Given the description of an element on the screen output the (x, y) to click on. 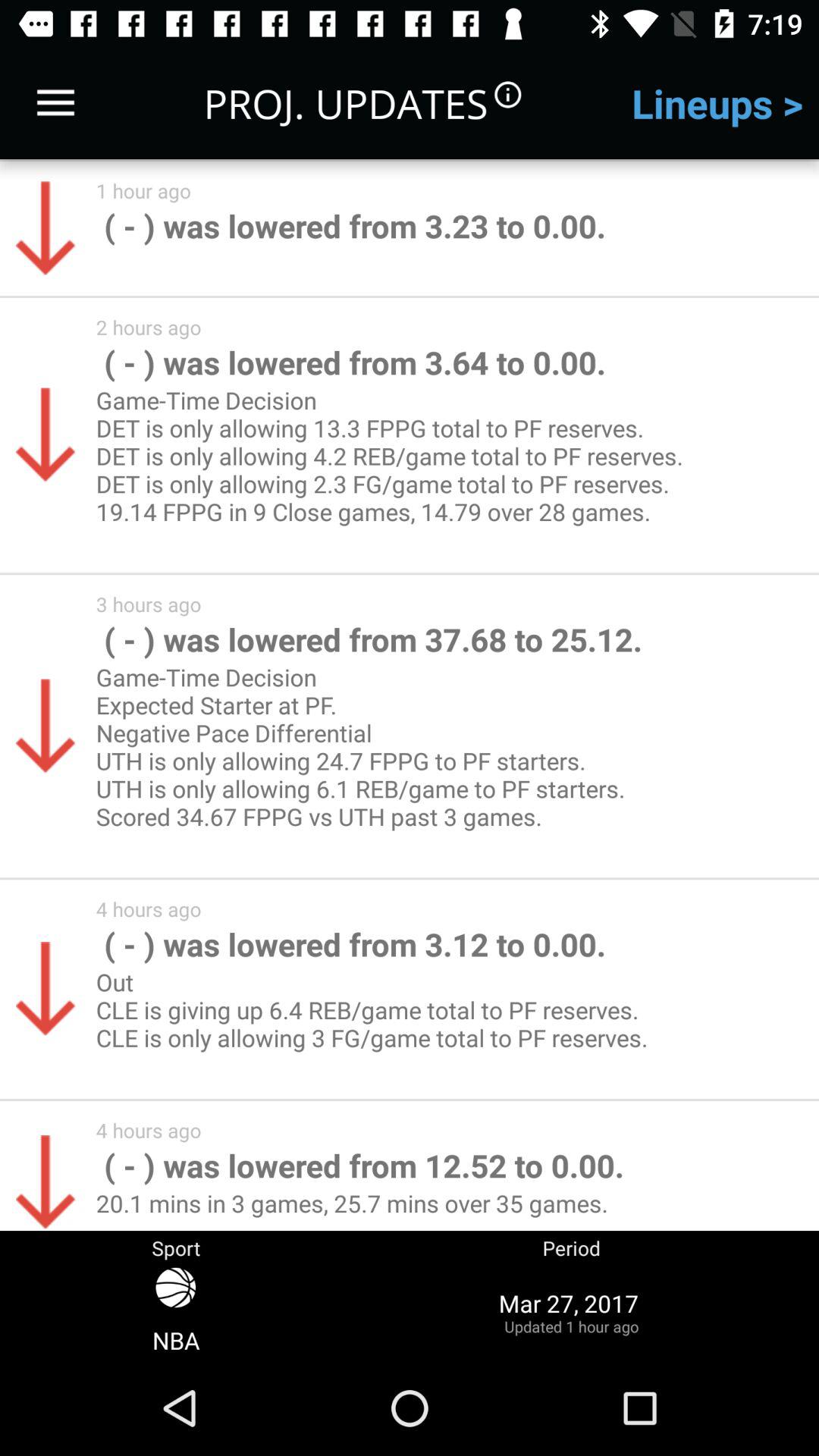
tap item next to the period (175, 1311)
